Given the description of an element on the screen output the (x, y) to click on. 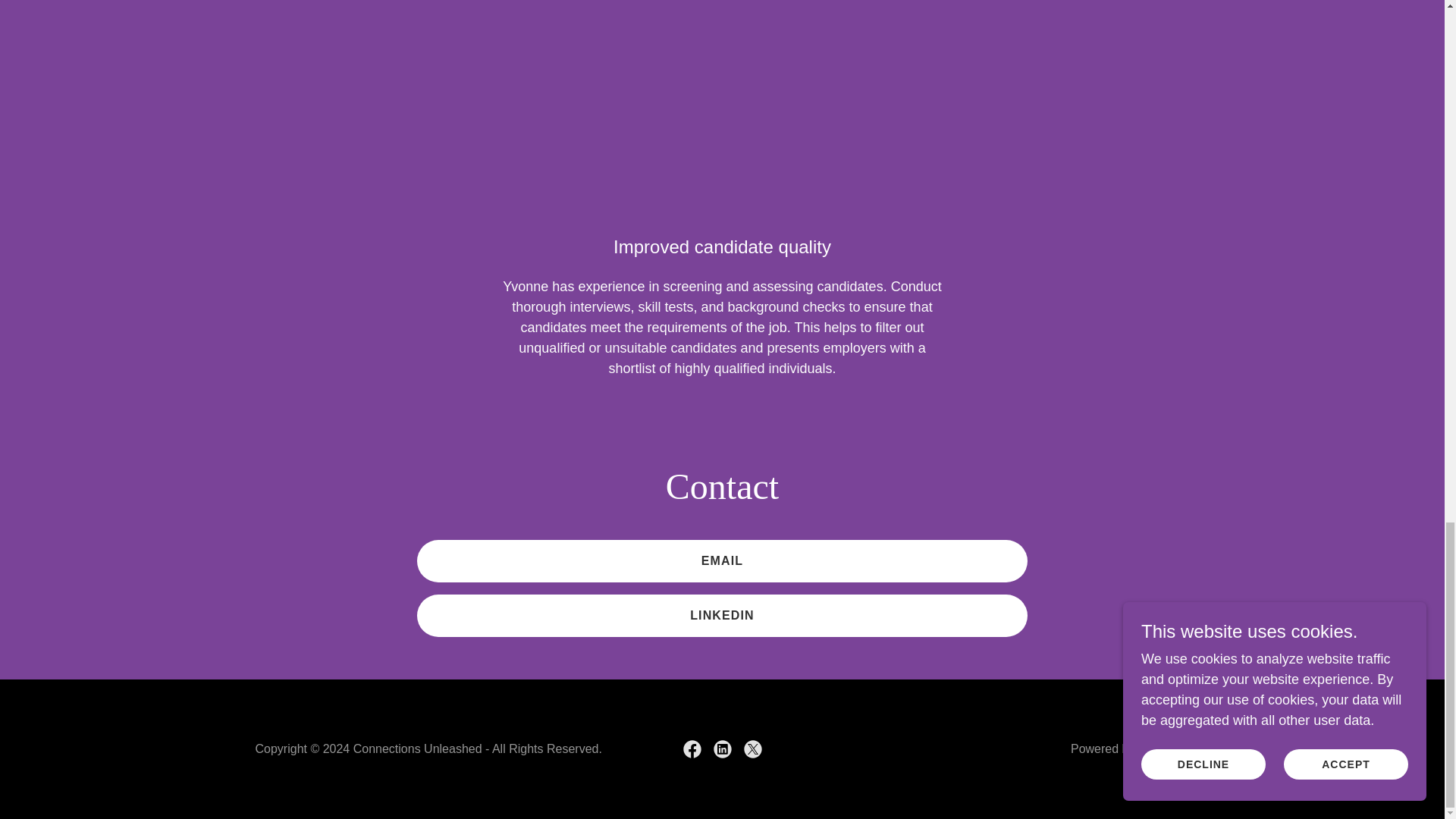
EMAIL (721, 560)
LINKEDIN (721, 615)
